Given the description of an element on the screen output the (x, y) to click on. 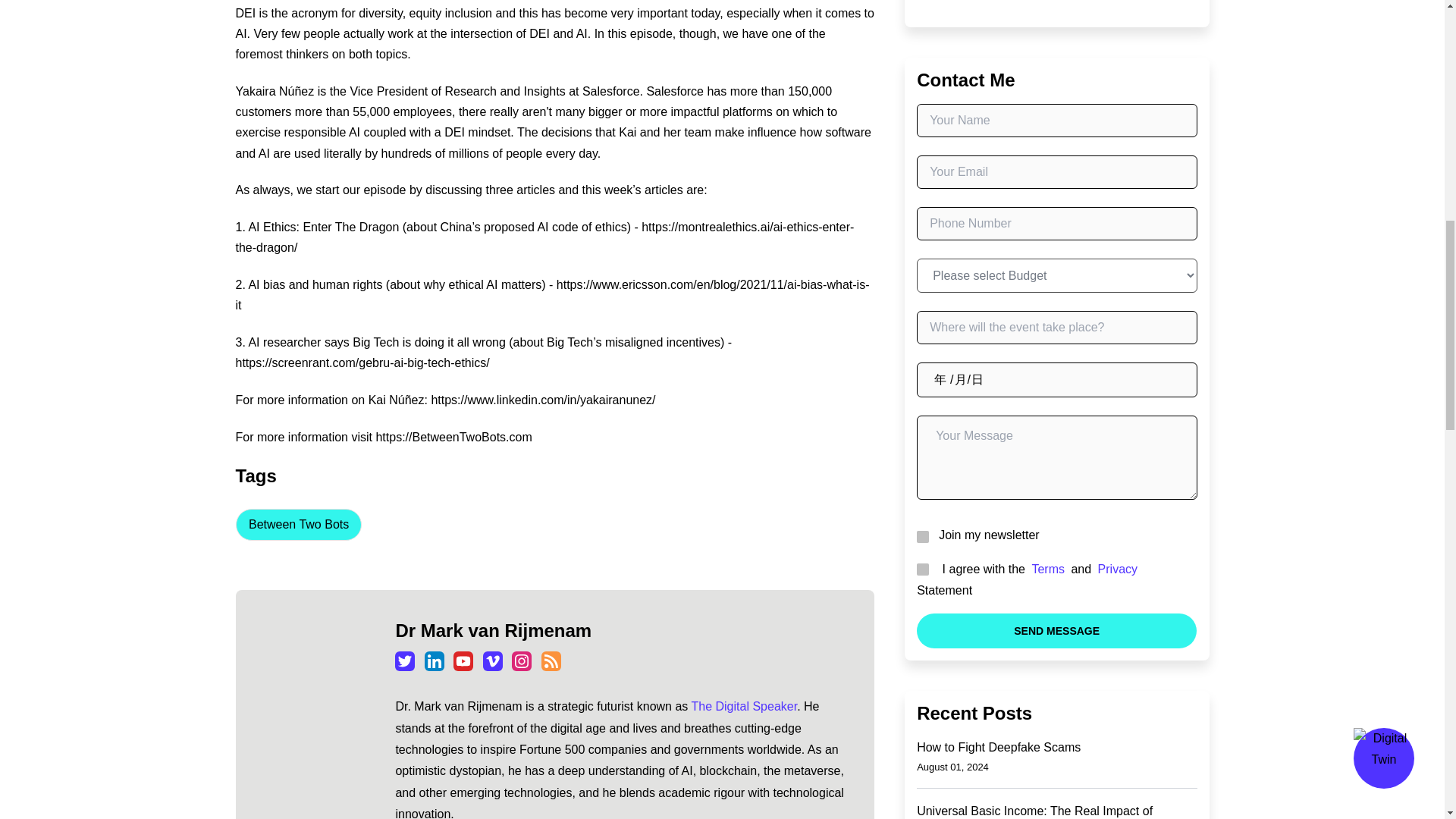
Between Two Bots (297, 524)
Yes (921, 535)
Twitter (404, 660)
Yes (921, 568)
Linkedin (434, 660)
